Given the description of an element on the screen output the (x, y) to click on. 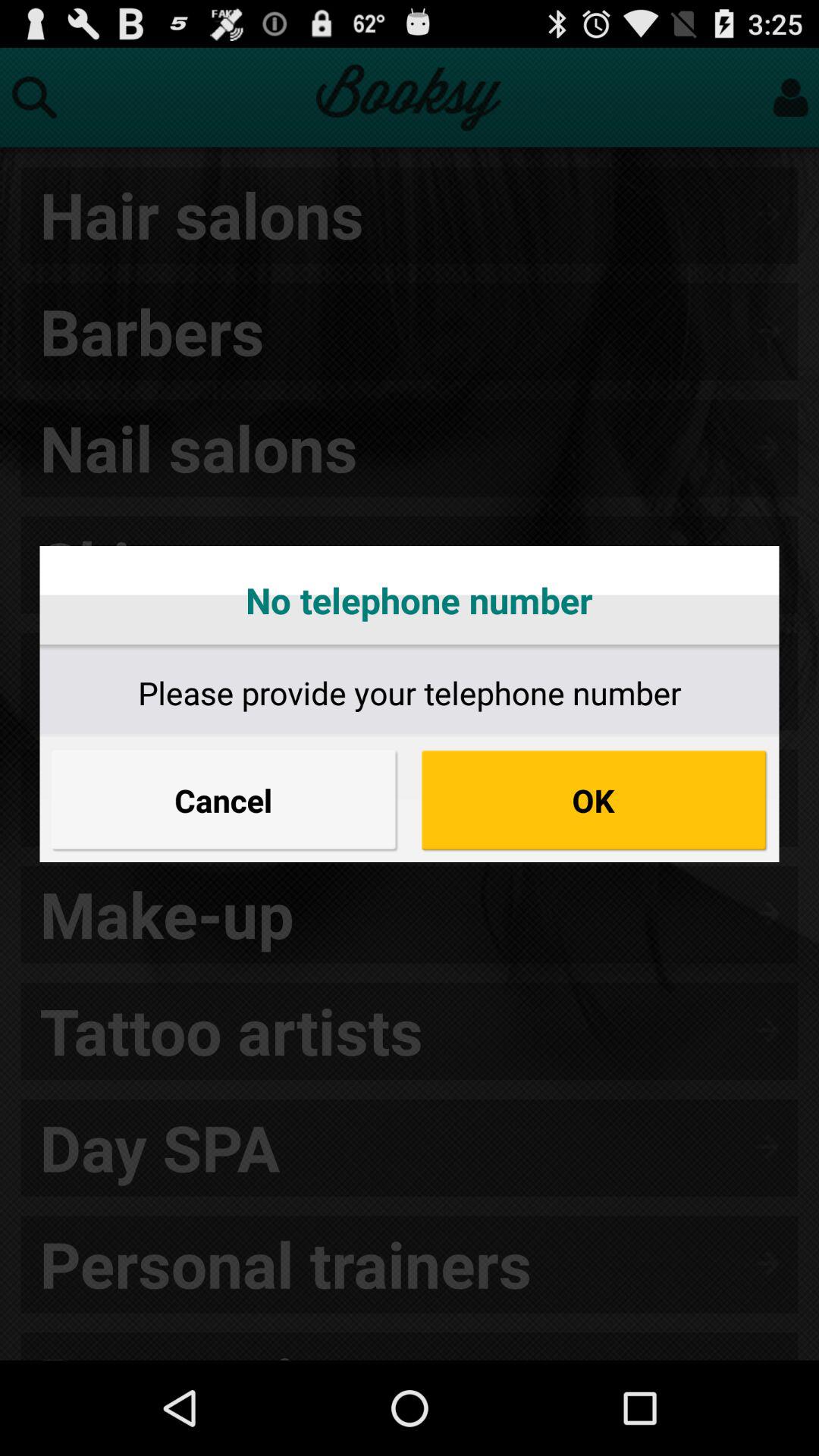
turn off the icon below the please provide your (593, 799)
